Given the description of an element on the screen output the (x, y) to click on. 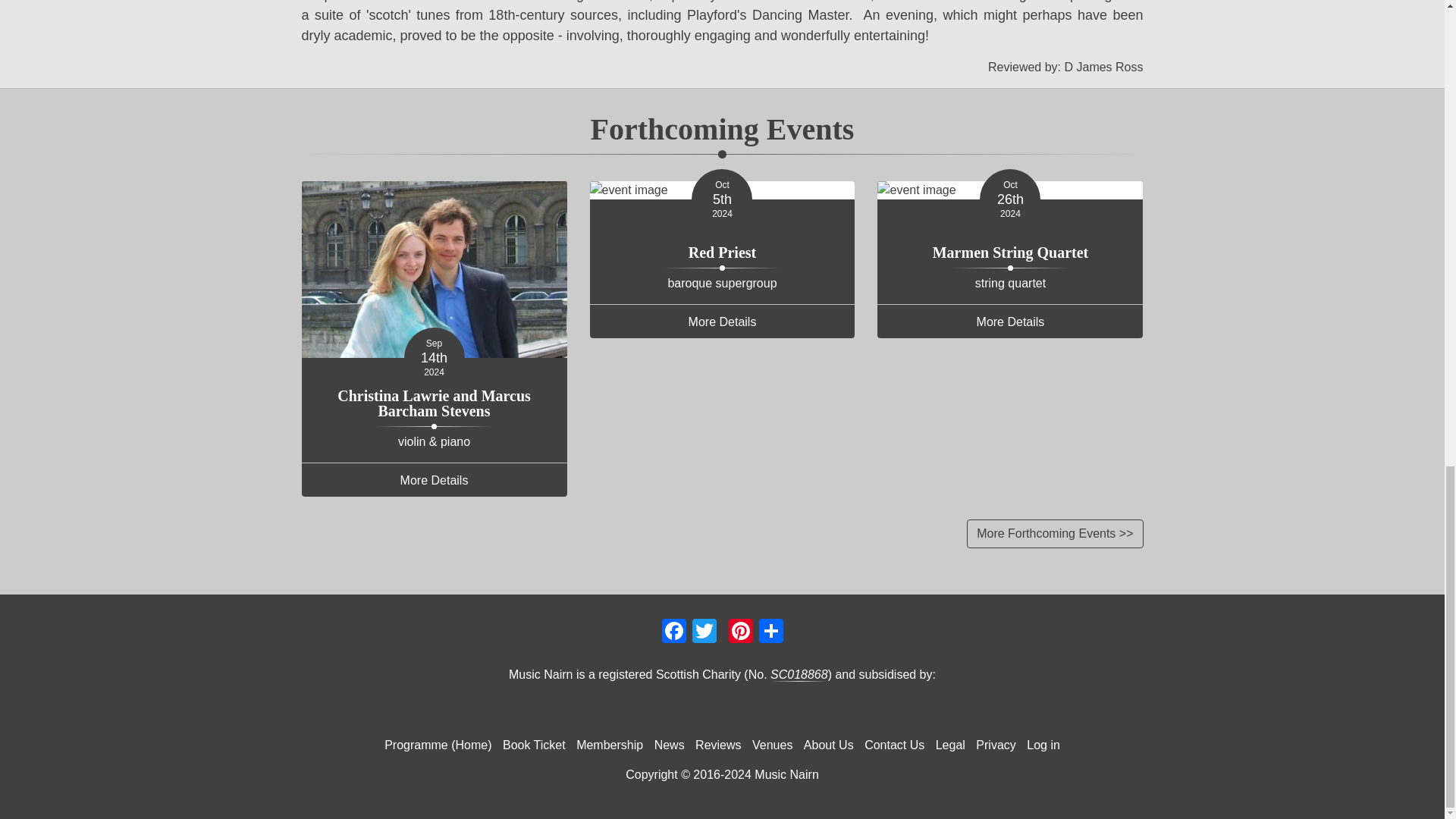
Details of venues used for events (772, 745)
How to contact us (894, 745)
Book Ticket (534, 745)
Facebook (673, 630)
More Details (434, 479)
More Details (1009, 321)
Membership (609, 745)
More Details (722, 321)
Reviews of past events (717, 745)
Book Tickets for Events (534, 745)
How to become a member (609, 745)
Music Nairn News (669, 745)
Share (770, 630)
Privacy Statement (995, 745)
Pinterest (740, 630)
